Given the description of an element on the screen output the (x, y) to click on. 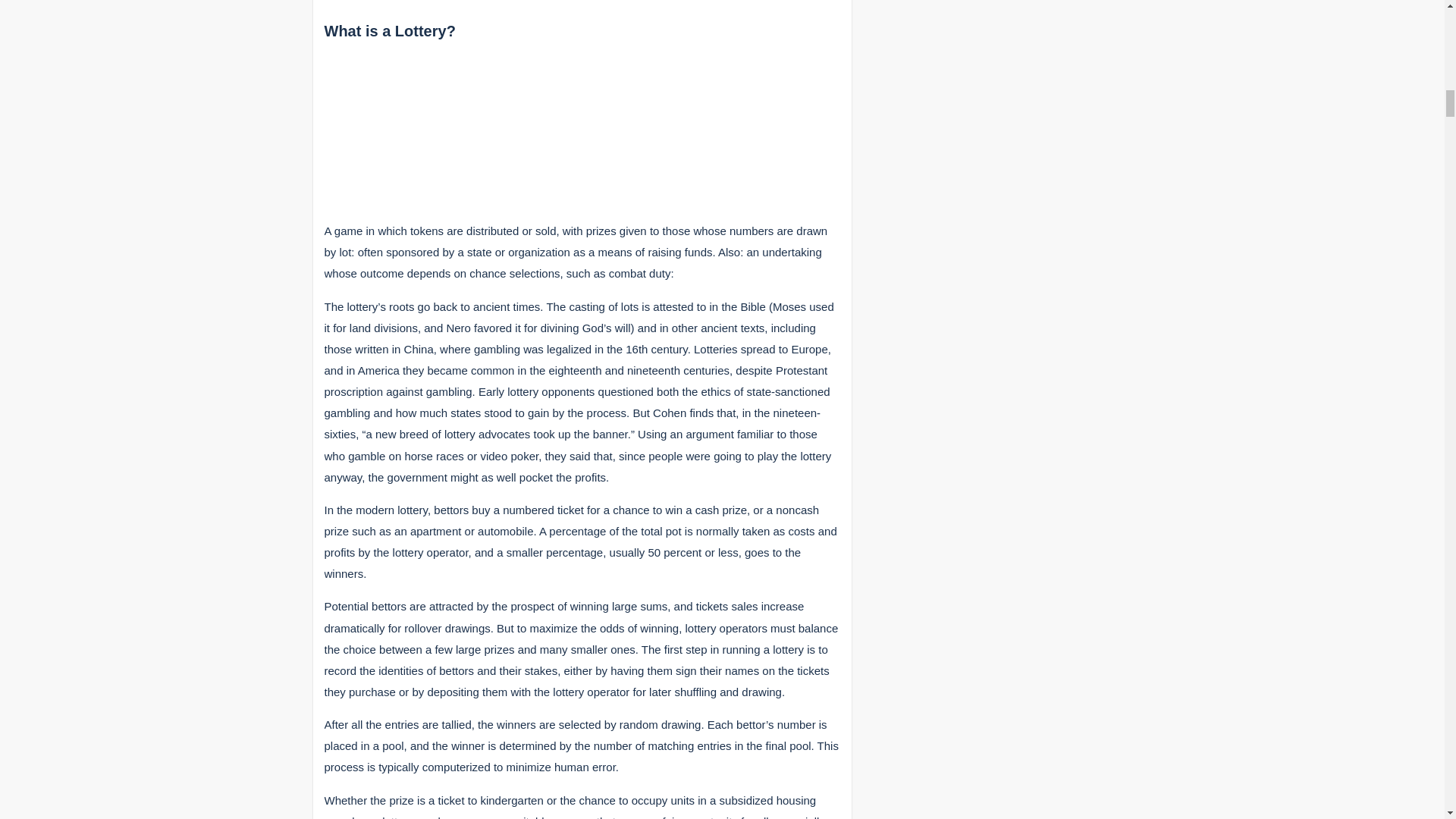
What is a Lottery? (389, 30)
